Given the description of an element on the screen output the (x, y) to click on. 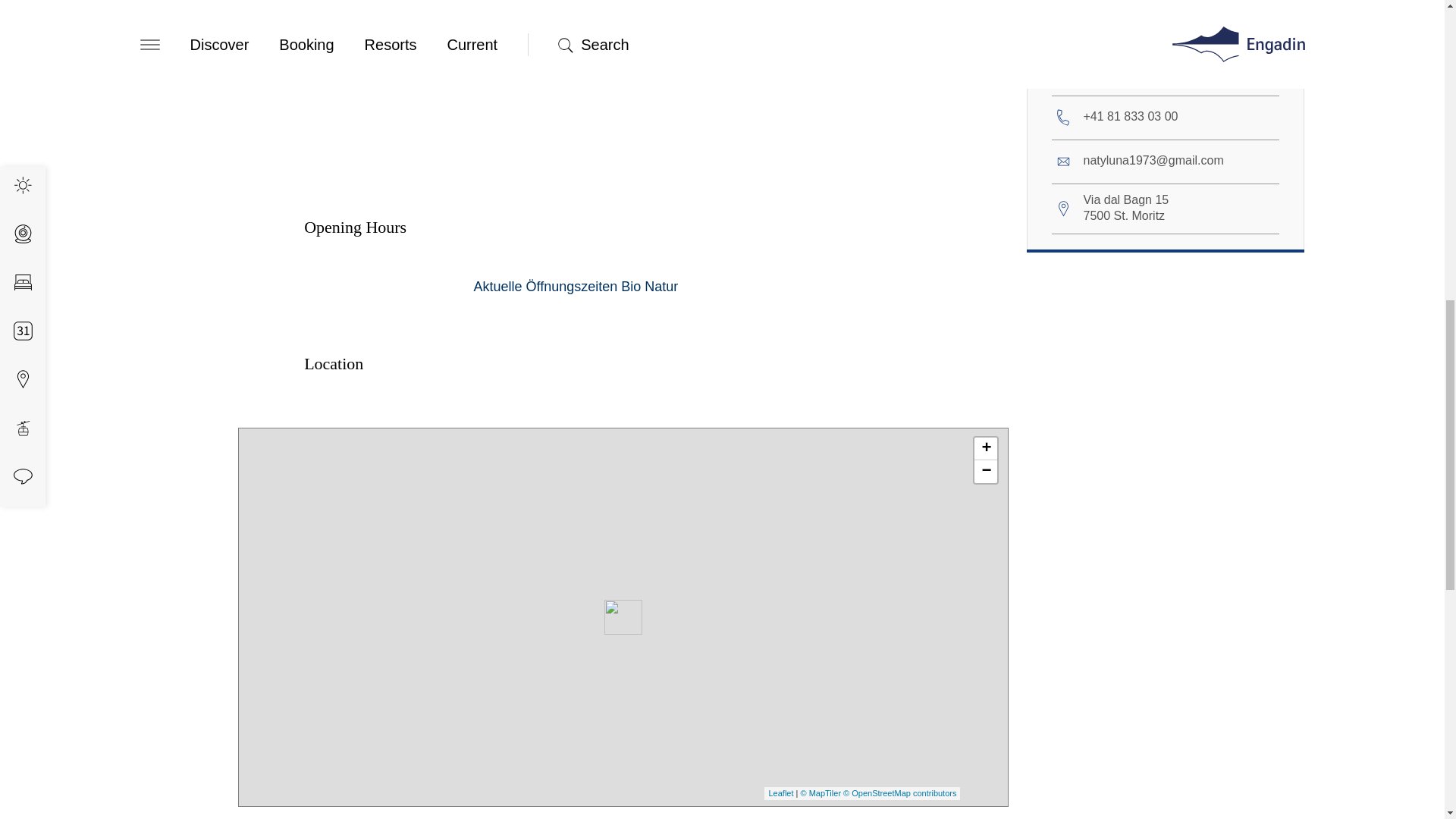
Zoom in (985, 448)
A JS library for interactive maps (780, 792)
Zoom out (985, 471)
